Given the description of an element on the screen output the (x, y) to click on. 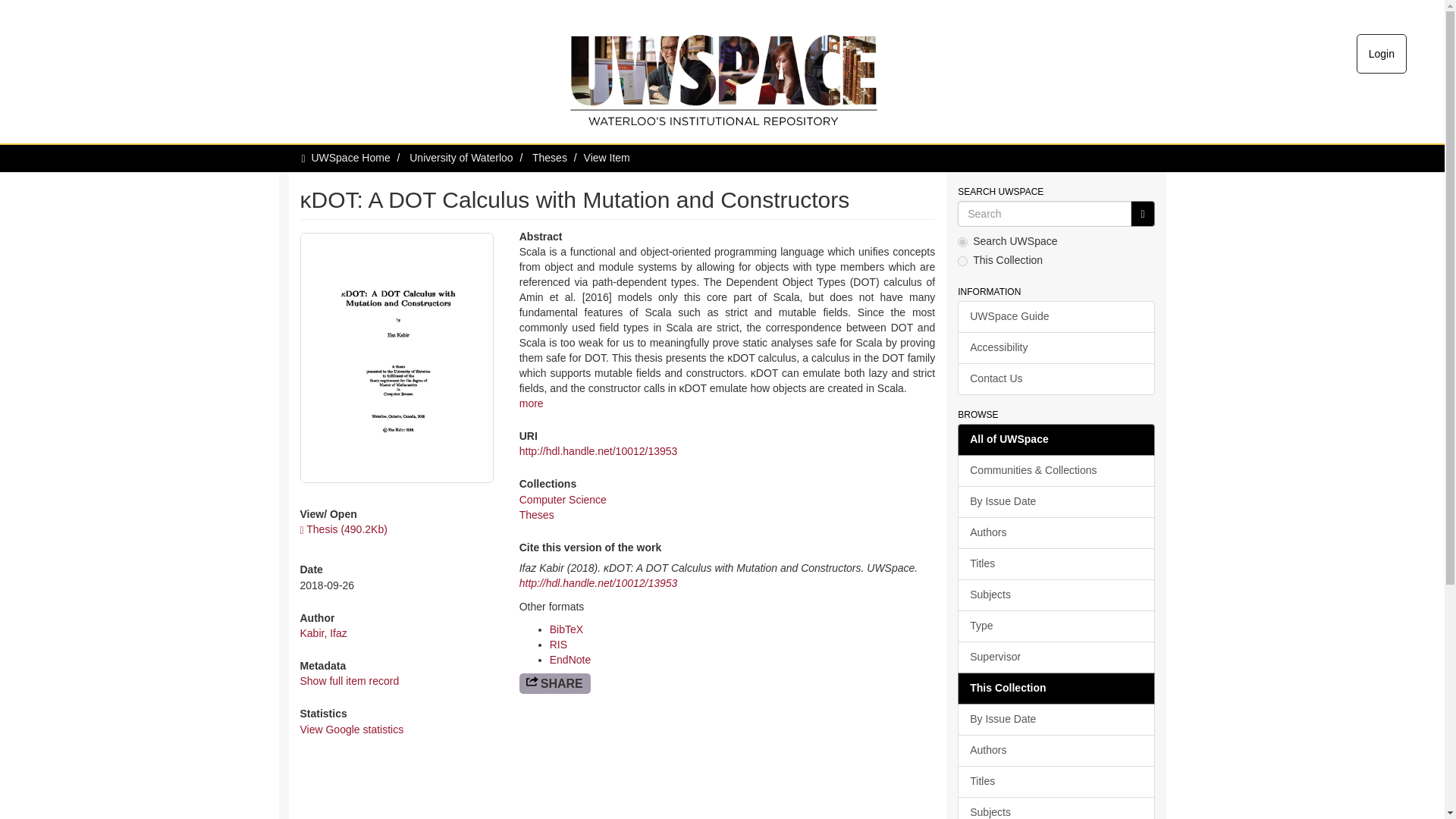
Accessibility (1056, 347)
more (531, 403)
View Google statistics (351, 729)
Show full item record (348, 680)
Theses (536, 514)
untranslated (1142, 213)
Computer Science (563, 499)
BibTeX (566, 629)
Theses (549, 157)
University of Waterloo (460, 157)
UWSpace Guide (1056, 316)
Search UWSpace (1044, 213)
EndNote (570, 659)
RIS (558, 644)
Contact Us (1056, 378)
